Given the description of an element on the screen output the (x, y) to click on. 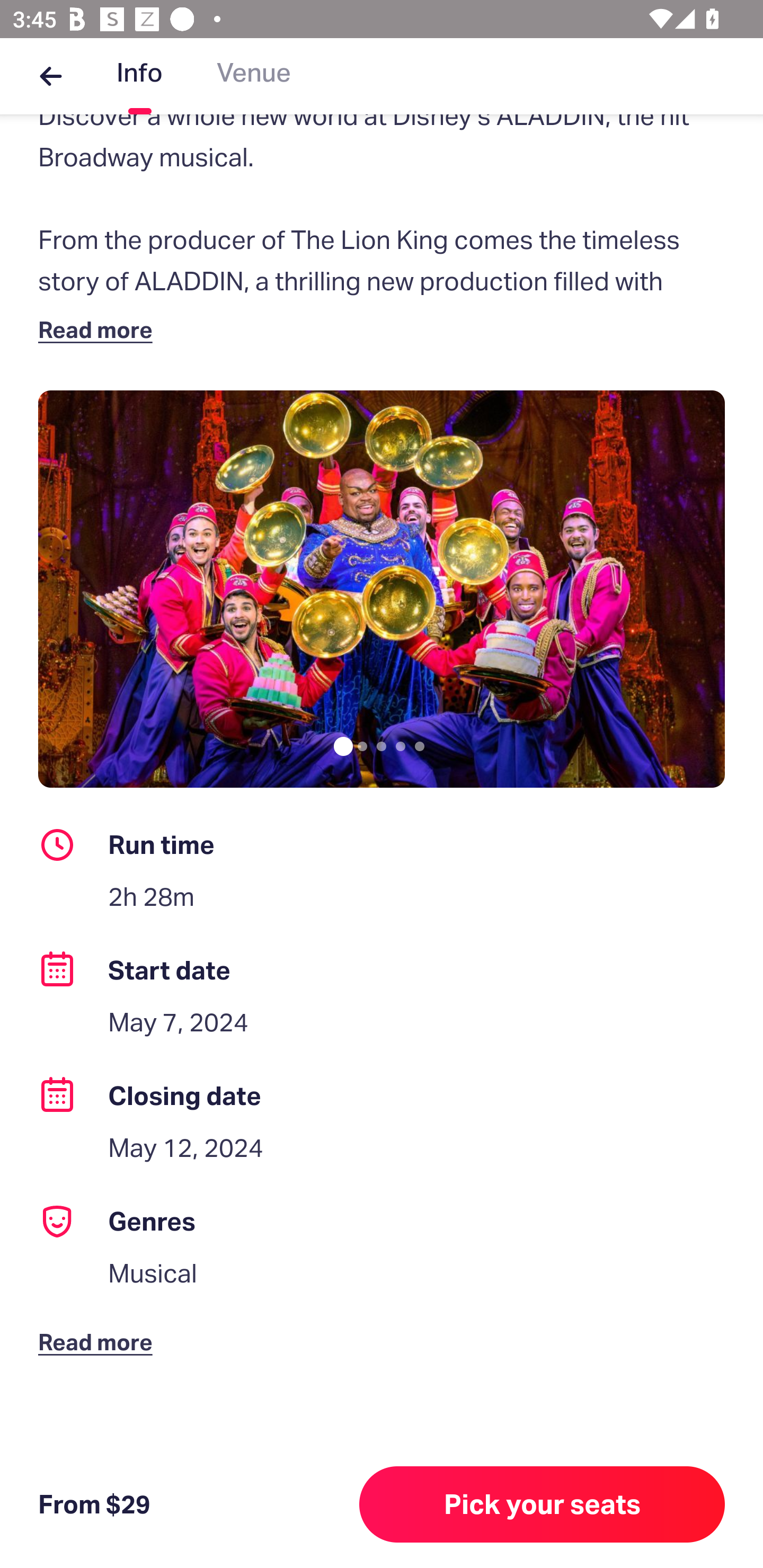
Venue (253, 75)
Read more (99, 328)
Read more (99, 1327)
Pick your seats (541, 1504)
